Given the description of an element on the screen output the (x, y) to click on. 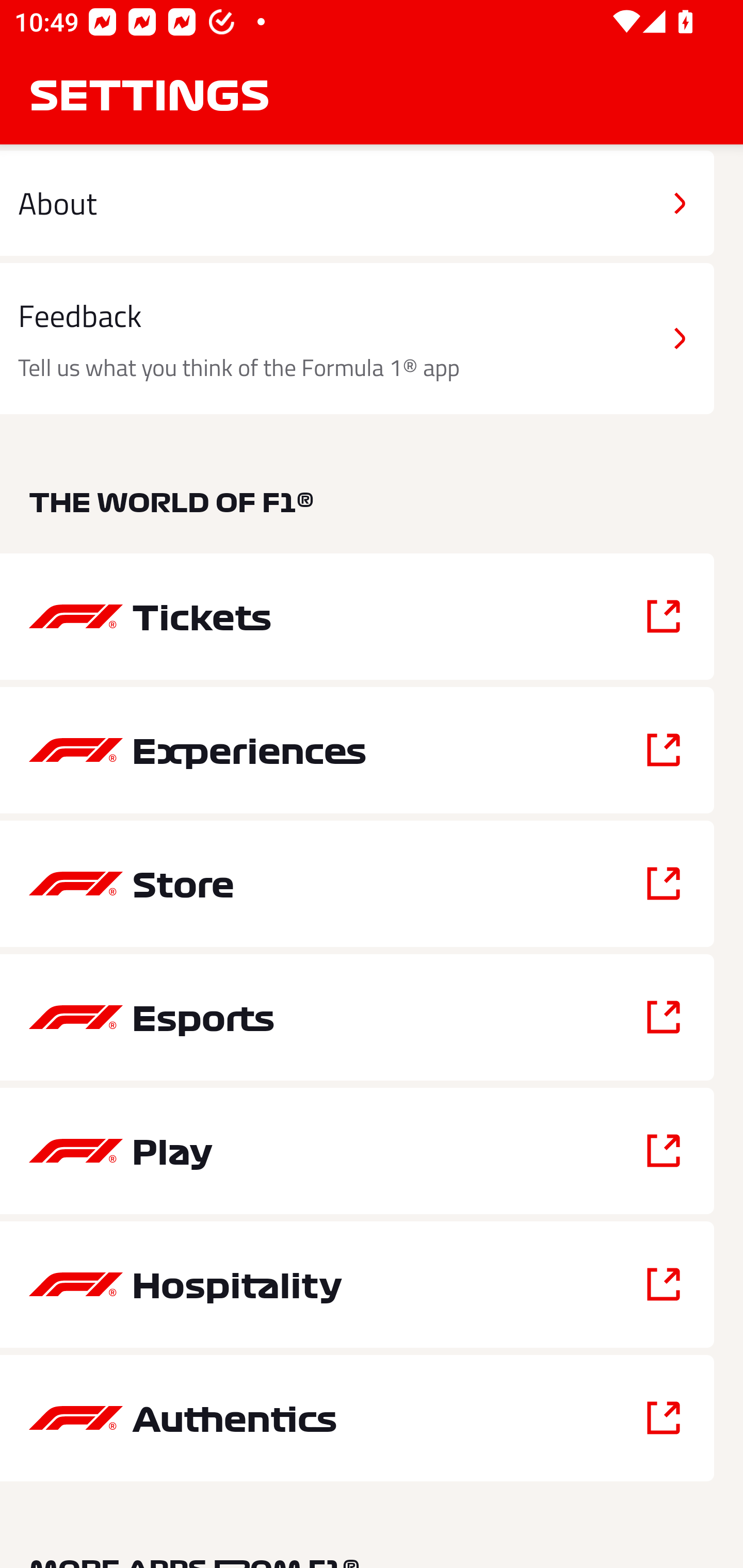
About (357, 202)
Tickets (357, 616)
Experiences (357, 749)
Store (357, 883)
Esports (357, 1017)
Play (357, 1150)
Hospitality (357, 1284)
Authentics (357, 1417)
